Given the description of an element on the screen output the (x, y) to click on. 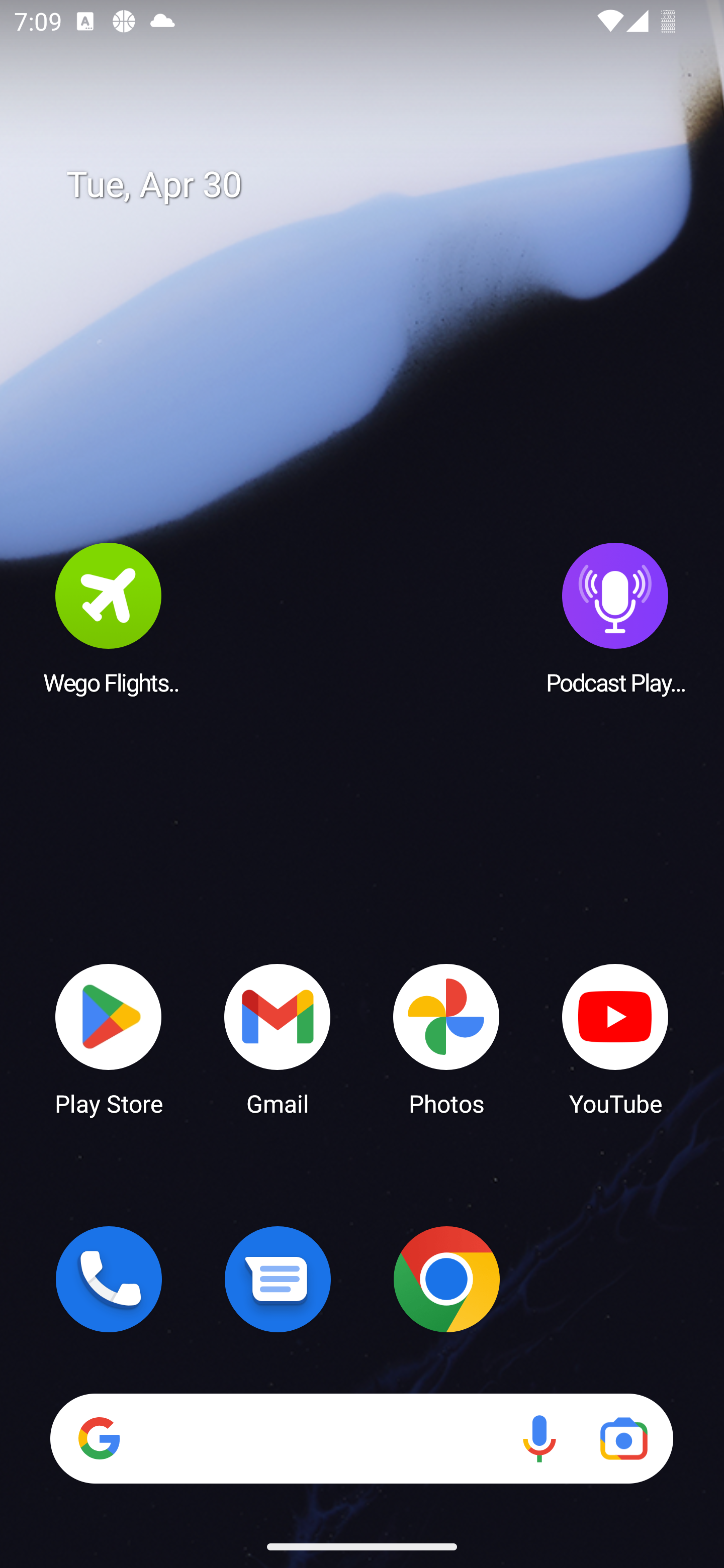
Tue, Apr 30 (375, 184)
Wego Flights & Hotels (108, 617)
Podcast Player (615, 617)
Play Store (108, 1038)
Gmail (277, 1038)
Photos (445, 1038)
YouTube (615, 1038)
Phone (108, 1279)
Messages (277, 1279)
Chrome (446, 1279)
Voice search (539, 1438)
Google Lens (623, 1438)
